Given the description of an element on the screen output the (x, y) to click on. 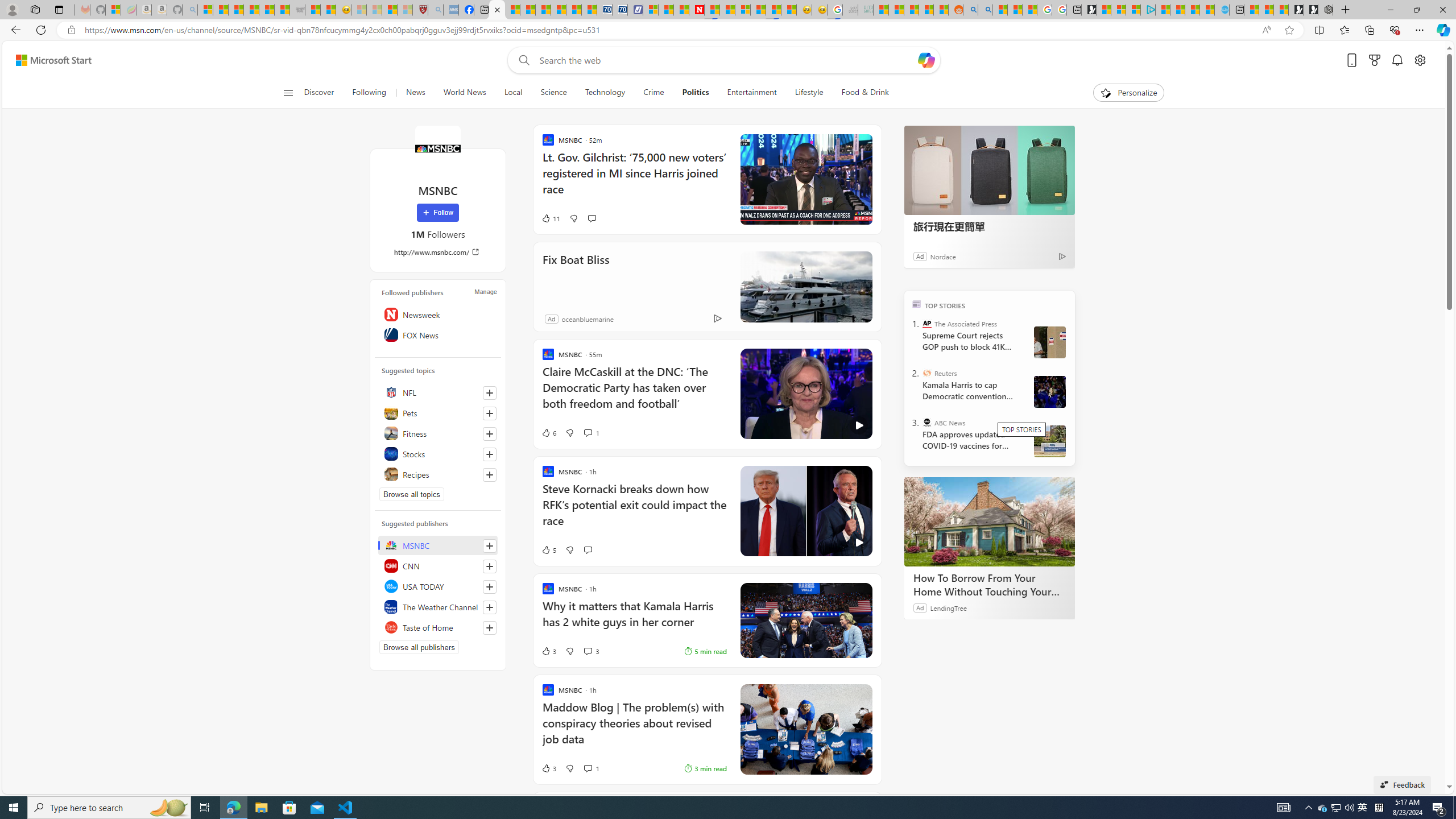
Fitness (437, 433)
5 Like (547, 549)
oceanbluemarine (587, 318)
